Given the description of an element on the screen output the (x, y) to click on. 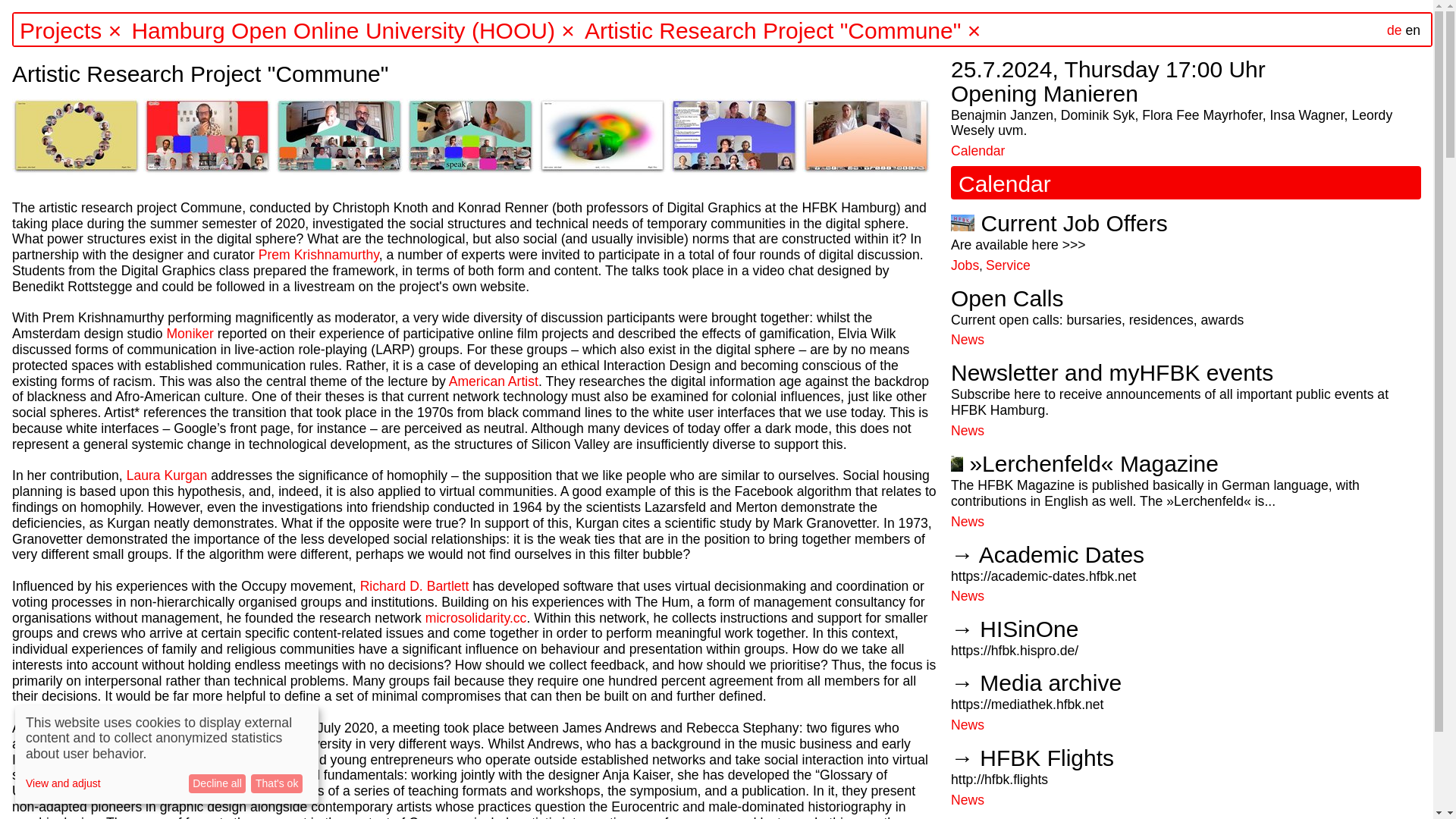
Moniker (189, 333)
de (1394, 29)
Projects (60, 30)
Richard D. Bartlett (413, 585)
Laura Kurgan (167, 475)
Prem Krishnamurthy (318, 254)
Rebecca Stephany (118, 774)
Artistic Research Project "Commune" (772, 30)
en (1413, 29)
American Artist (493, 381)
microsolidarity.cc (476, 616)
